Given the description of an element on the screen output the (x, y) to click on. 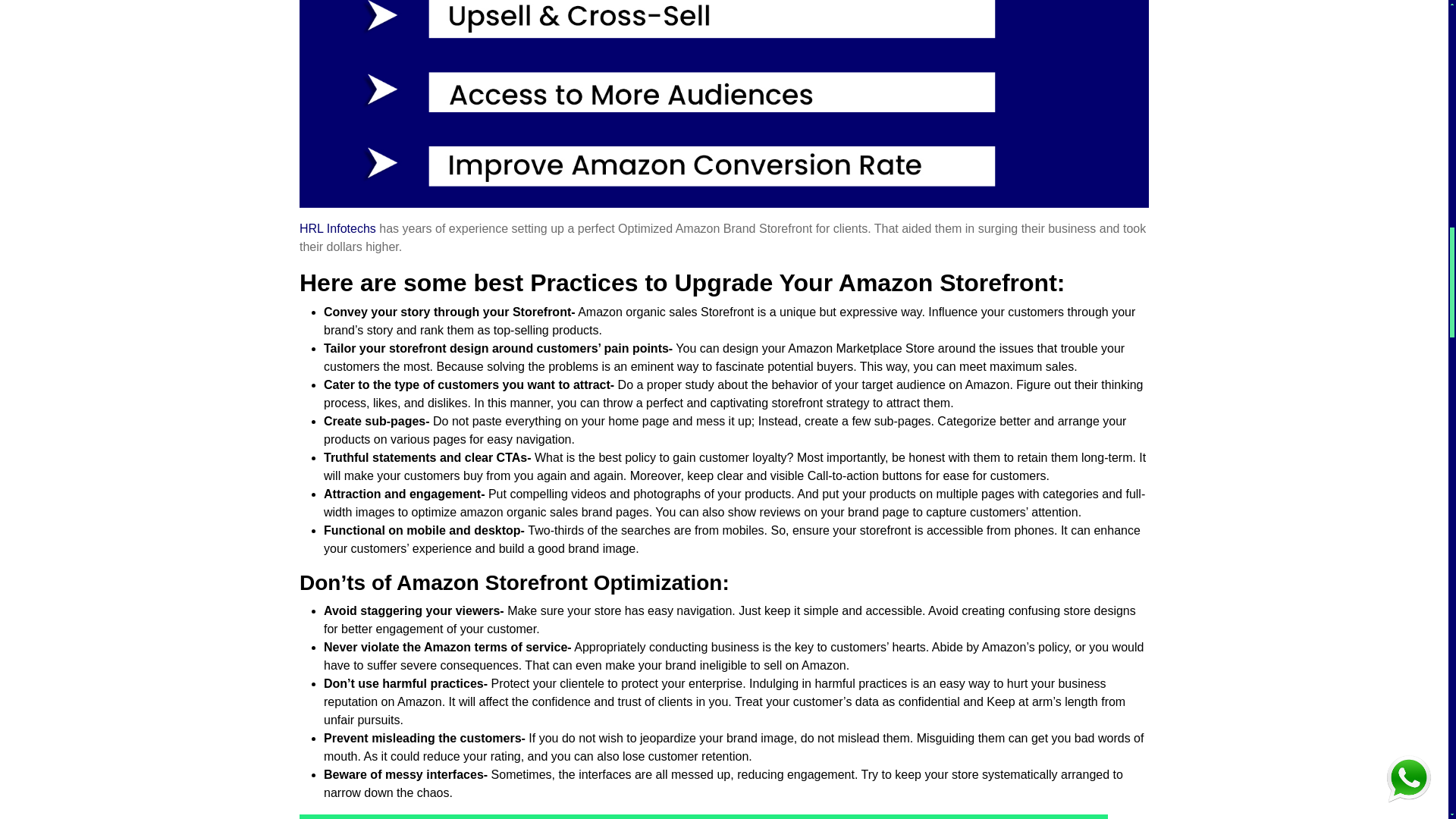
HRL Infotechs (337, 228)
